Given the description of an element on the screen output the (x, y) to click on. 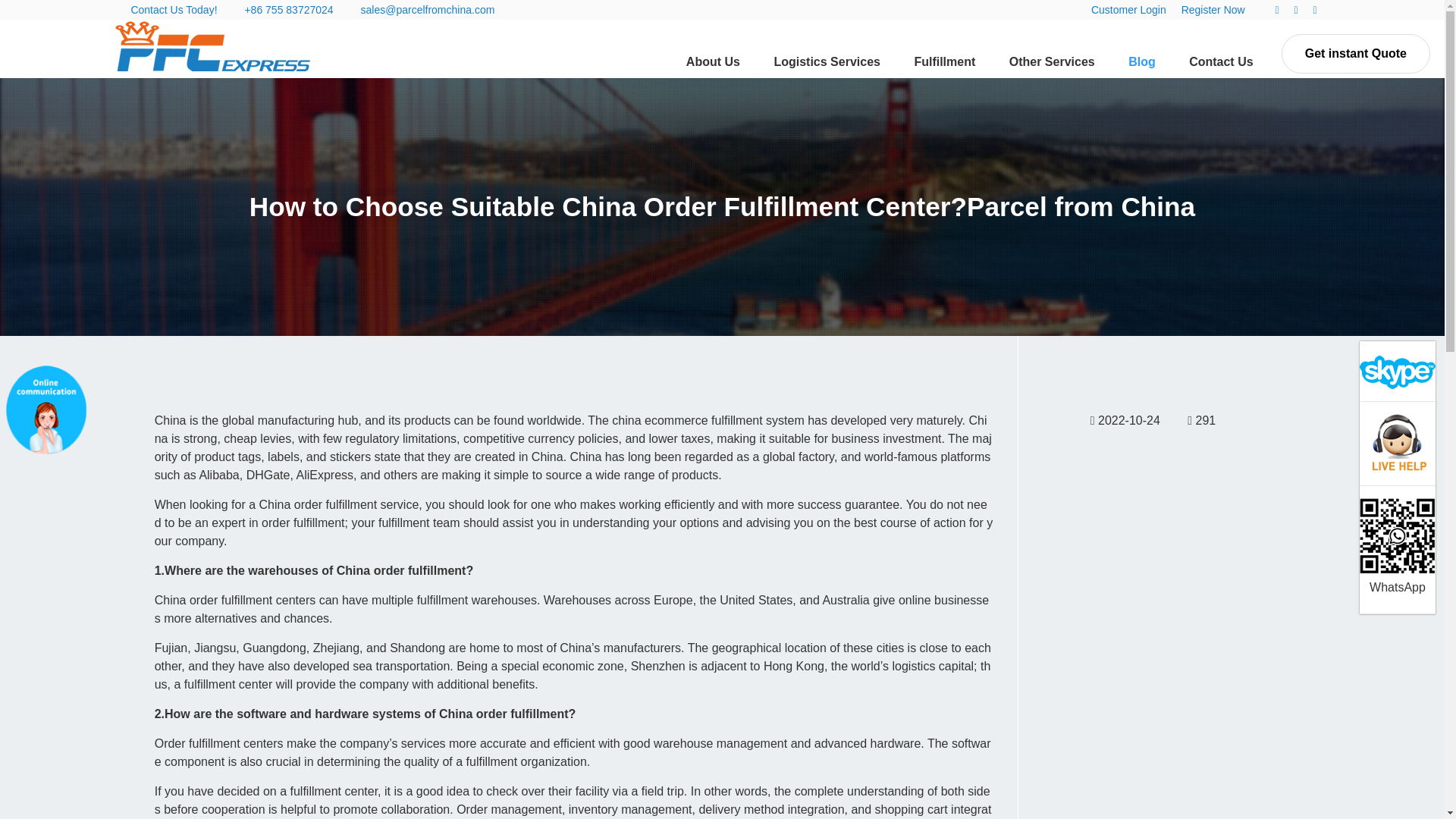
Customer Login (1128, 9)
Fulfillment (944, 61)
Register Now (1212, 9)
About Us (713, 61)
Logistics Services (826, 61)
Other Services (1051, 61)
Get instant Quote (1355, 53)
